Given the description of an element on the screen output the (x, y) to click on. 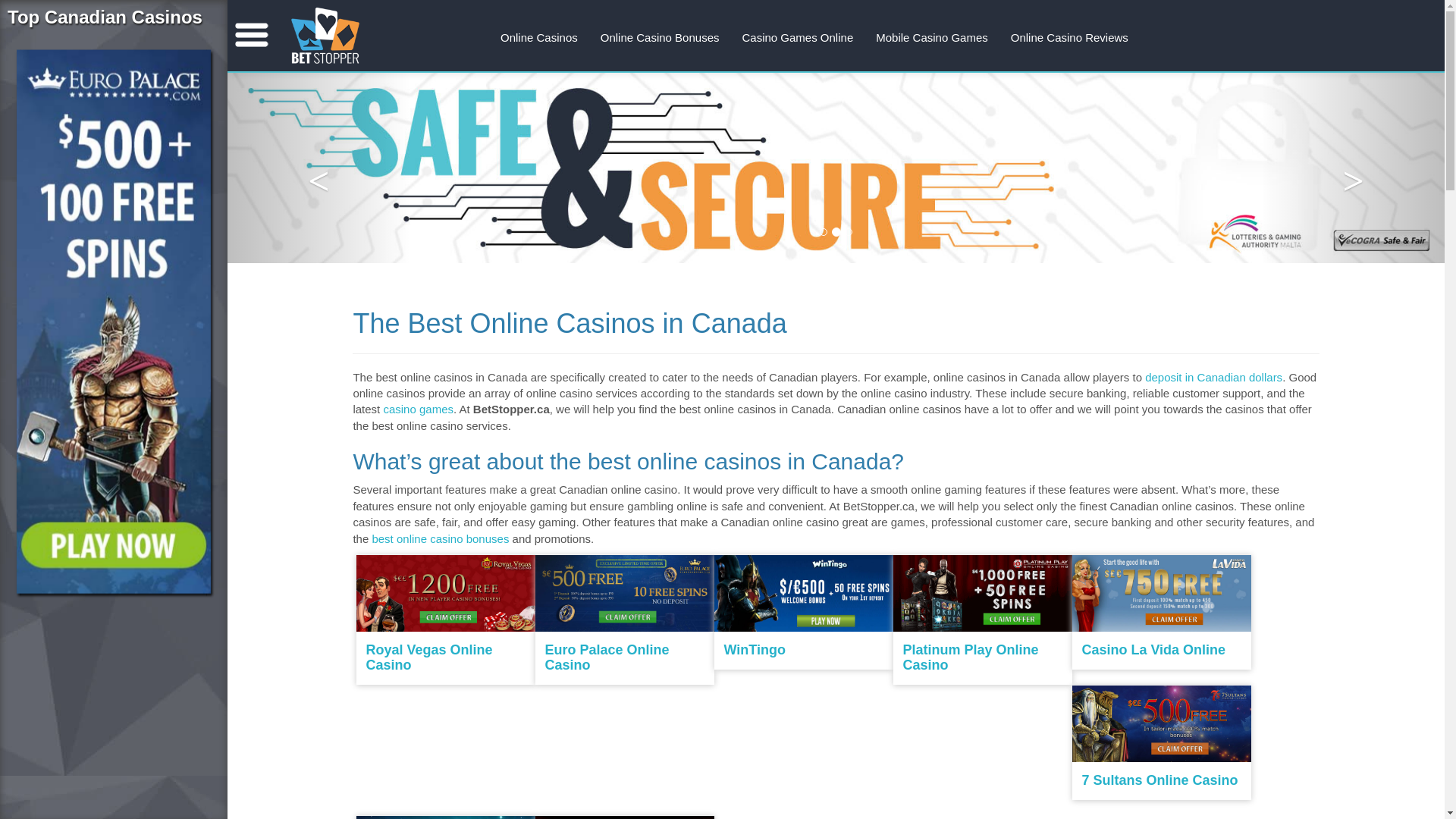
casino games Element type: text (417, 408)
best online casino bonuses Element type: text (439, 538)
Royal Vegas Online Casino Element type: text (428, 657)
Mobile Casino Games Element type: text (931, 37)
Casino Games Online Element type: text (797, 37)
7sultans Element type: hover (101, 310)
Casino La Vida Online Element type: text (1153, 649)
Next Element type: text (1352, 167)
Euro Palace Online Casino Element type: text (606, 657)
Previous Element type: text (318, 167)
Online Casinos Element type: text (539, 37)
Platinum Play Online Casino Element type: text (970, 657)
Euro Palace Element type: hover (624, 592)
Online Casino Bonuses Element type: text (660, 37)
Royal Vegas Element type: hover (99, 311)
7 Sultans Online Casino Element type: text (1159, 779)
Royal Vegas Element type: hover (445, 592)
Online Casino Reviews Element type: text (1069, 37)
Betstopper.ca Element type: hover (325, 35)
WinTingo Element type: text (753, 649)
Toggle Menu Element type: hover (251, 34)
deposit in Canadian dollars Element type: text (1213, 376)
Safe and Secure Element type: hover (835, 167)
